Given the description of an element on the screen output the (x, y) to click on. 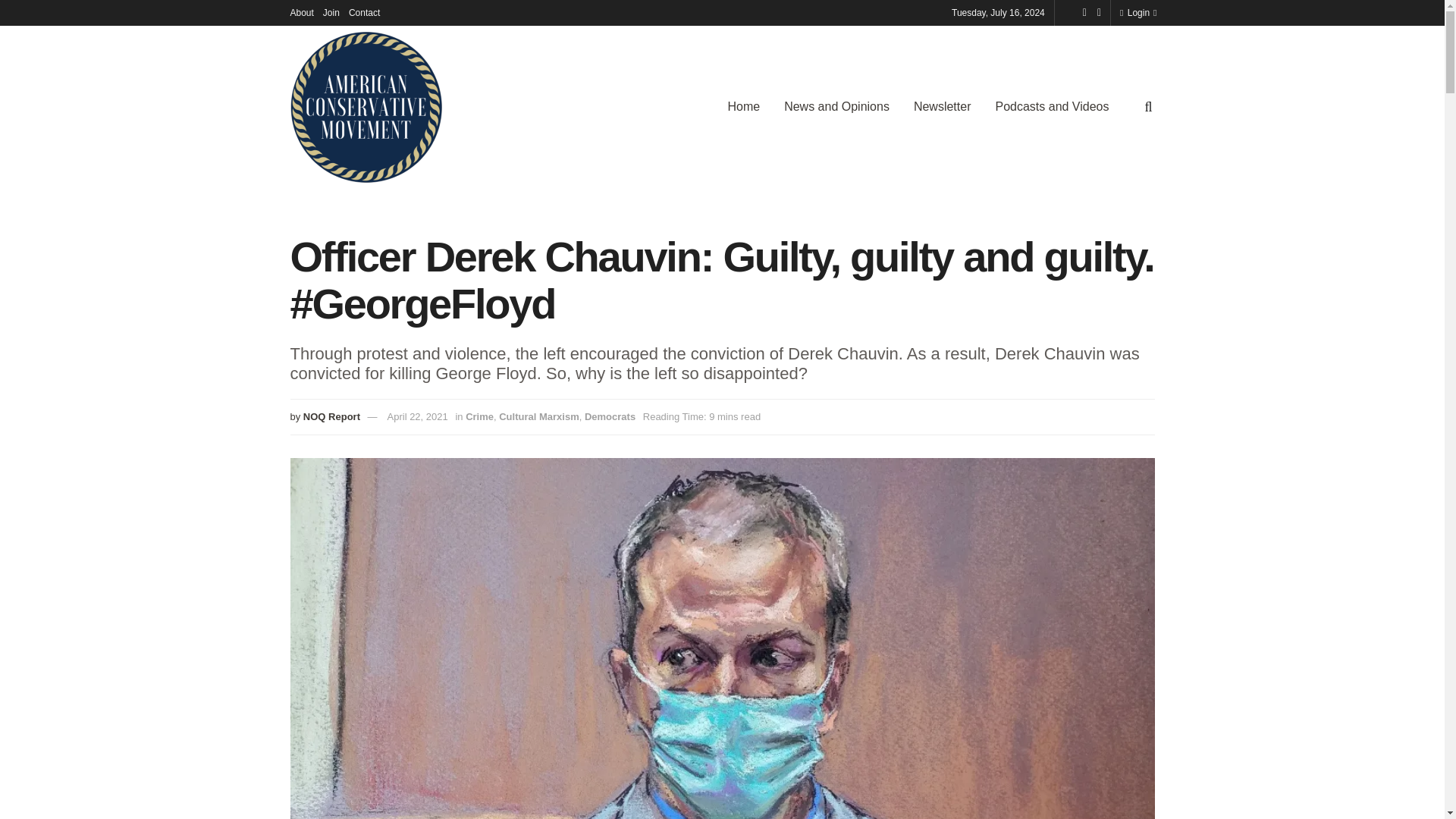
NOQ Report (330, 416)
Cultural Marxism (538, 416)
Login (1134, 12)
Democrats (609, 416)
News and Opinions (836, 106)
Home (742, 106)
Crime (479, 416)
Podcasts and Videos (1051, 106)
About (301, 12)
April 22, 2021 (417, 416)
Contact (364, 12)
Newsletter (942, 106)
